Given the description of an element on the screen output the (x, y) to click on. 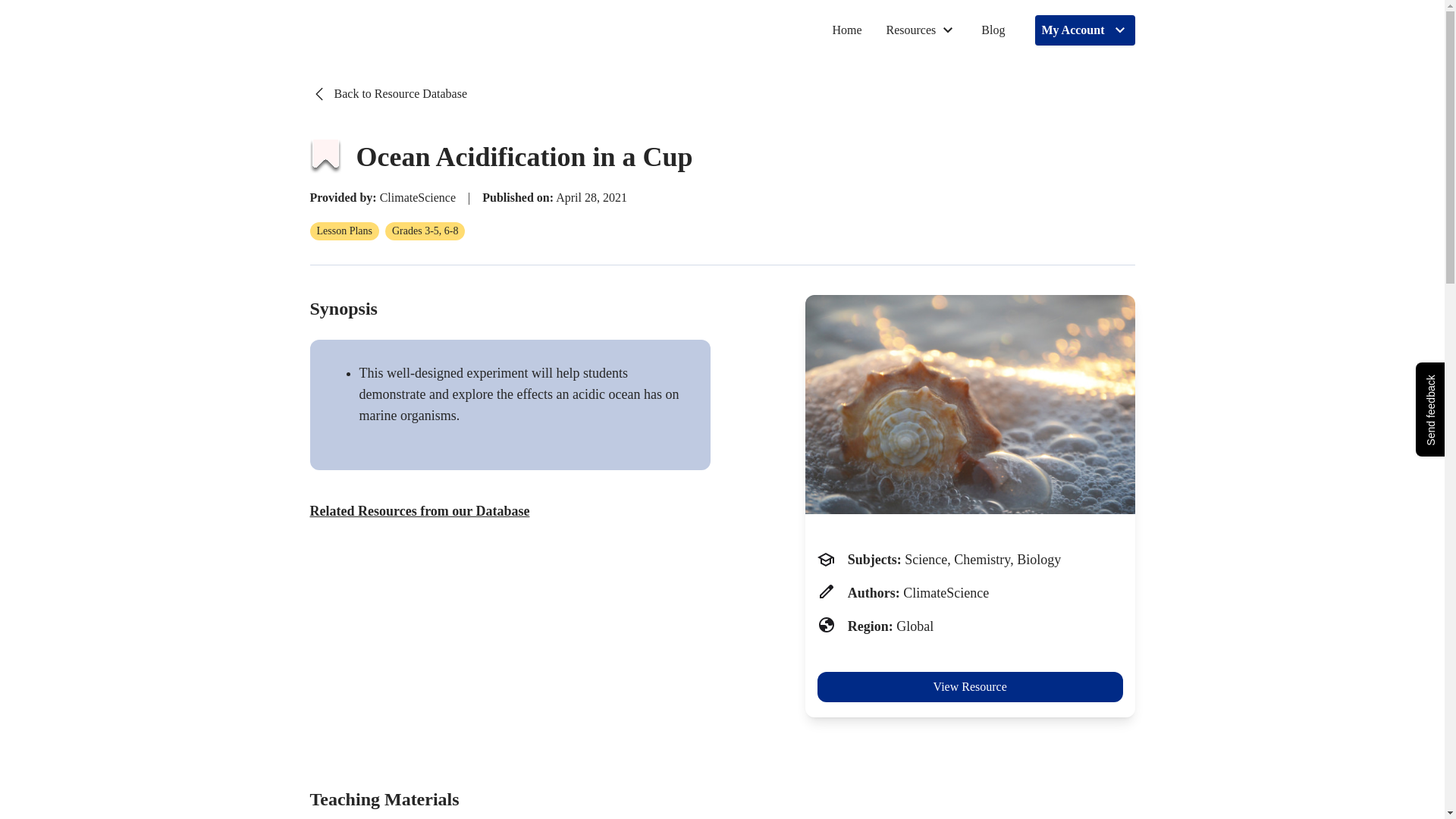
My Account (1084, 30)
Blog (992, 30)
View Resource (969, 686)
Related Resources from our Database (418, 510)
Back to Resource Database (386, 94)
Home (846, 30)
Resources (920, 30)
